Given the description of an element on the screen output the (x, y) to click on. 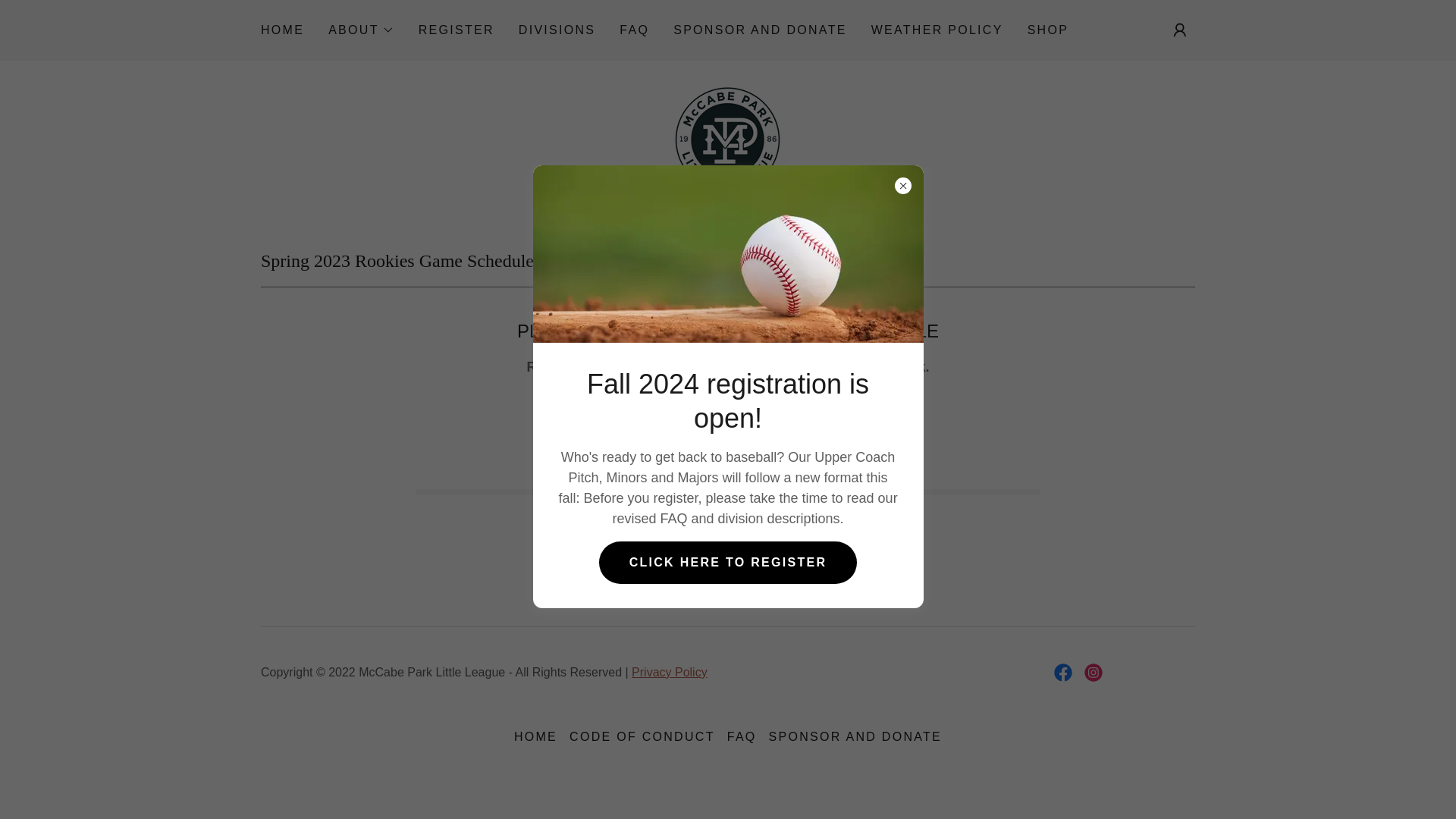
WEATHER POLICY (936, 30)
REGISTER (456, 30)
SPONSOR AND DONATE (759, 30)
SHOP (1048, 30)
ABOUT (361, 30)
HOME (282, 30)
FAQ (633, 30)
DIVISIONS (556, 30)
